Given the description of an element on the screen output the (x, y) to click on. 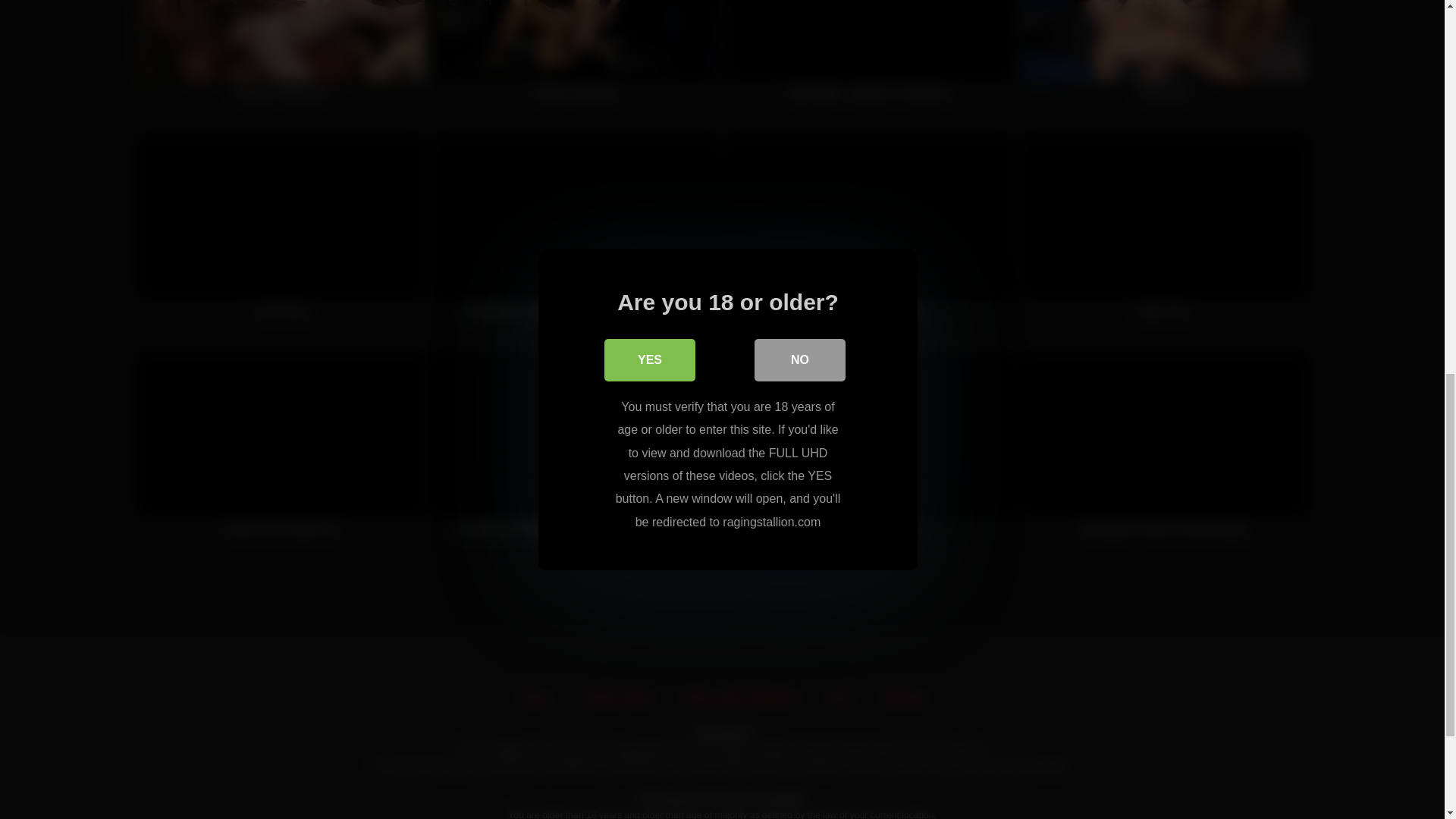
Terms and Conditions (740, 697)
Privacy Policy (615, 697)
Rearstable Orgy (869, 452)
Drive Thru (1163, 235)
2257 (840, 697)
Angelo And David (575, 58)
Samuel Colt Ploughs Damien Drake At Rearstable (575, 452)
Drive Thru (1163, 235)
Hardcore Interracial (281, 58)
Temptation (1163, 58)
